Given the description of an element on the screen output the (x, y) to click on. 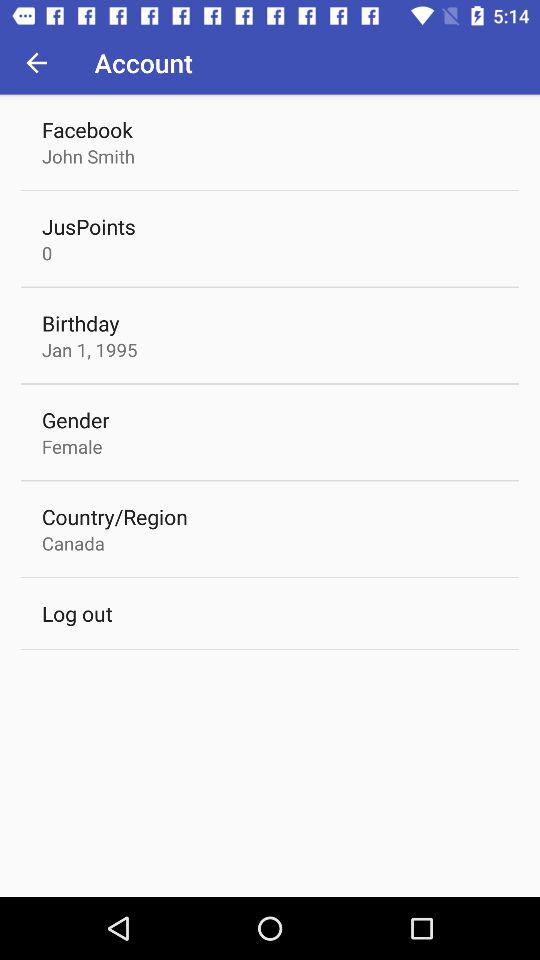
tap item next to the account (36, 62)
